Given the description of an element on the screen output the (x, y) to click on. 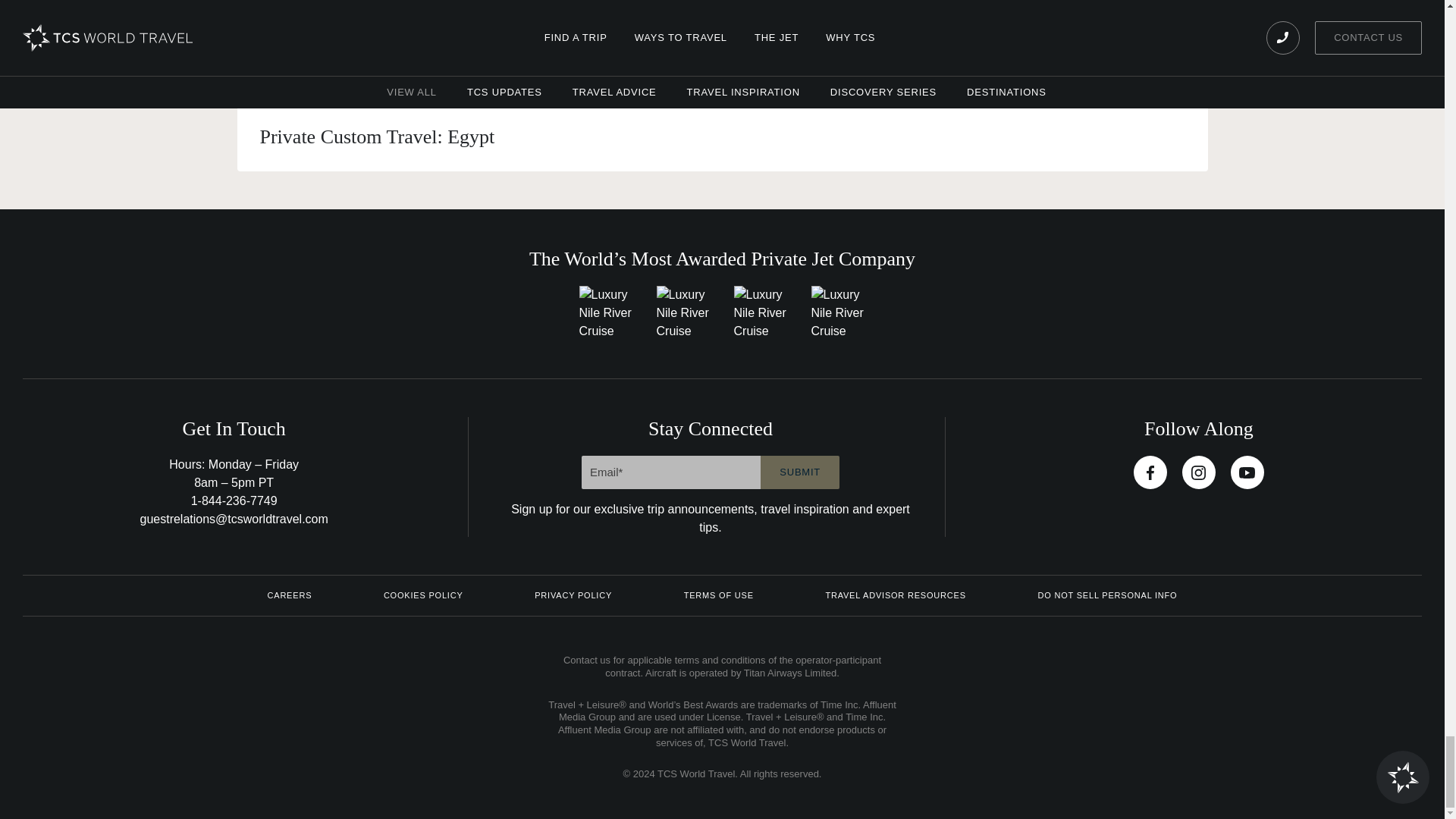
instagram (1198, 471)
facebook (1150, 471)
youtube (1246, 471)
